Given the description of an element on the screen output the (x, y) to click on. 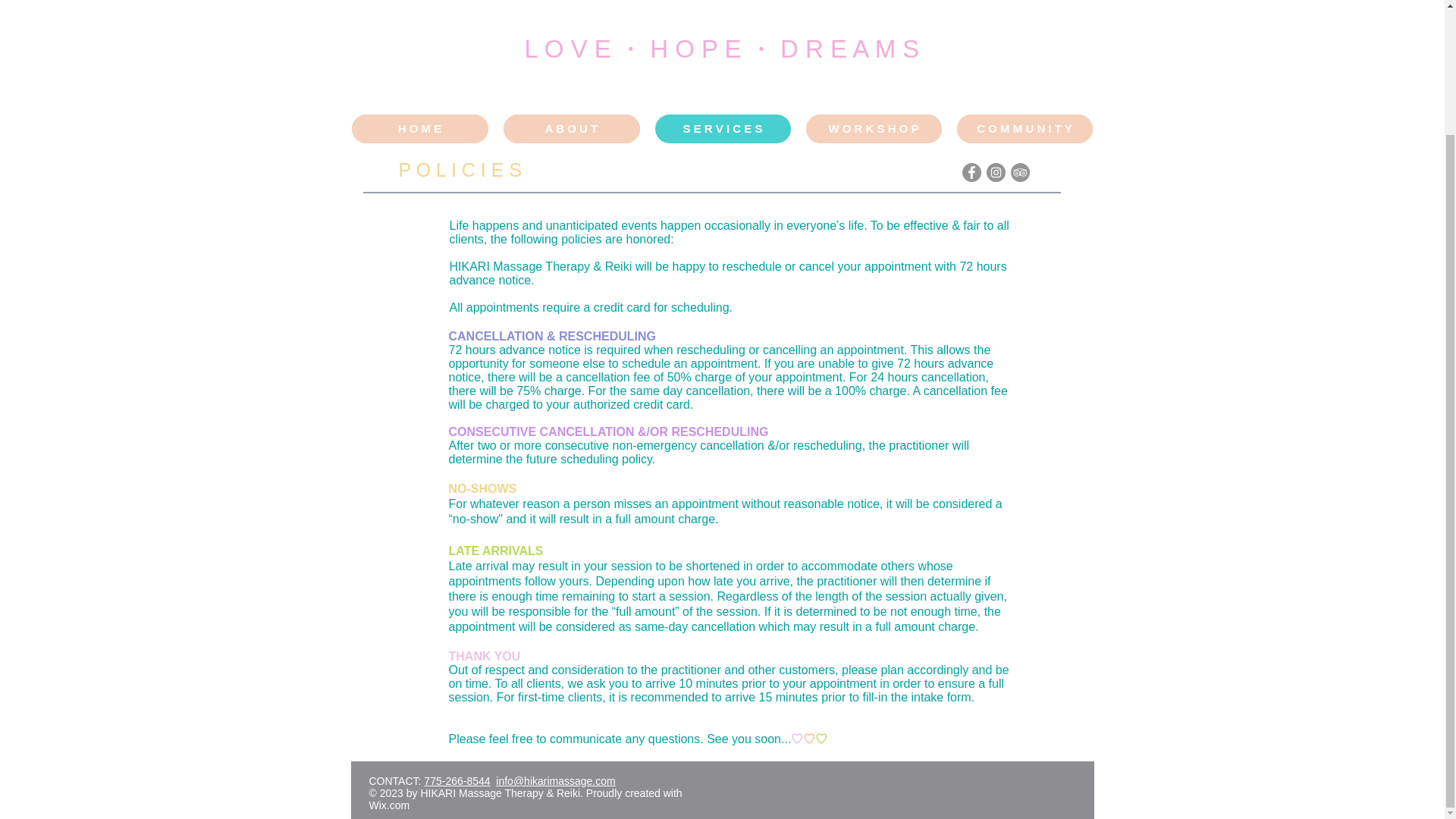
W O R K S H O P (872, 128)
Wix.com (388, 805)
A B O U T (571, 128)
775-266-8544 (456, 780)
C O M M U N I T Y (1024, 128)
H O M E (419, 128)
S E R V I C E S (722, 128)
